Given the description of an element on the screen output the (x, y) to click on. 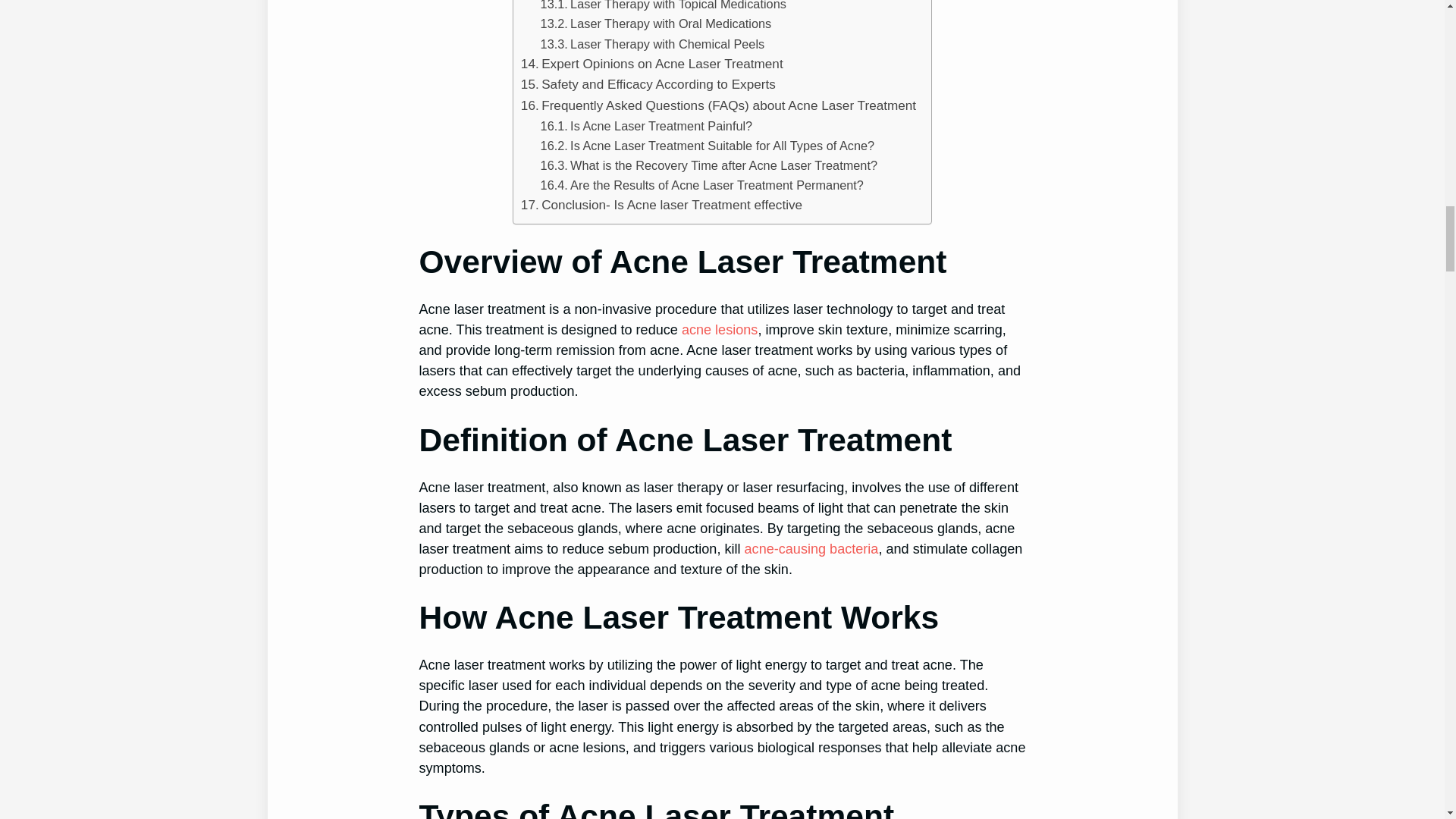
Laser Therapy with Topical Medications (663, 6)
Laser Therapy with Chemical Peels (652, 44)
Laser Therapy with Oral Medications (655, 23)
